Given the description of an element on the screen output the (x, y) to click on. 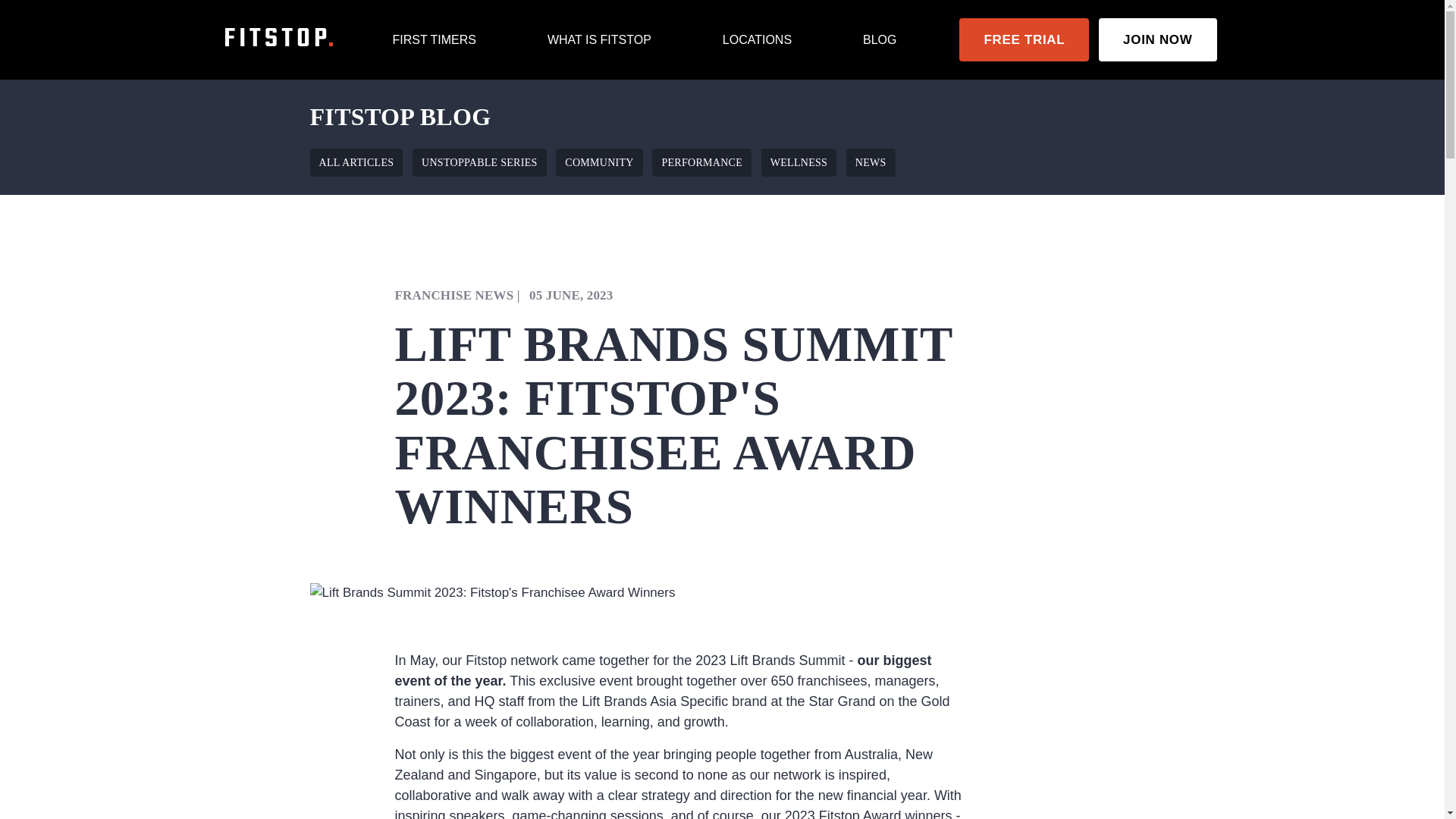
COMMUNITY (599, 162)
ALL ARTICLES (355, 162)
WELLNESS (798, 162)
LOCATIONS (756, 39)
PERFORMANCE (701, 162)
NEWS (870, 162)
BLOG (879, 39)
JOIN NOW (1157, 39)
FREE TRIAL (1024, 39)
UNSTOPPABLE SERIES (479, 162)
FIRST TIMERS (433, 39)
WHAT IS FITSTOP (599, 39)
FRANCHISE NEWS (453, 295)
